Given the description of an element on the screen output the (x, y) to click on. 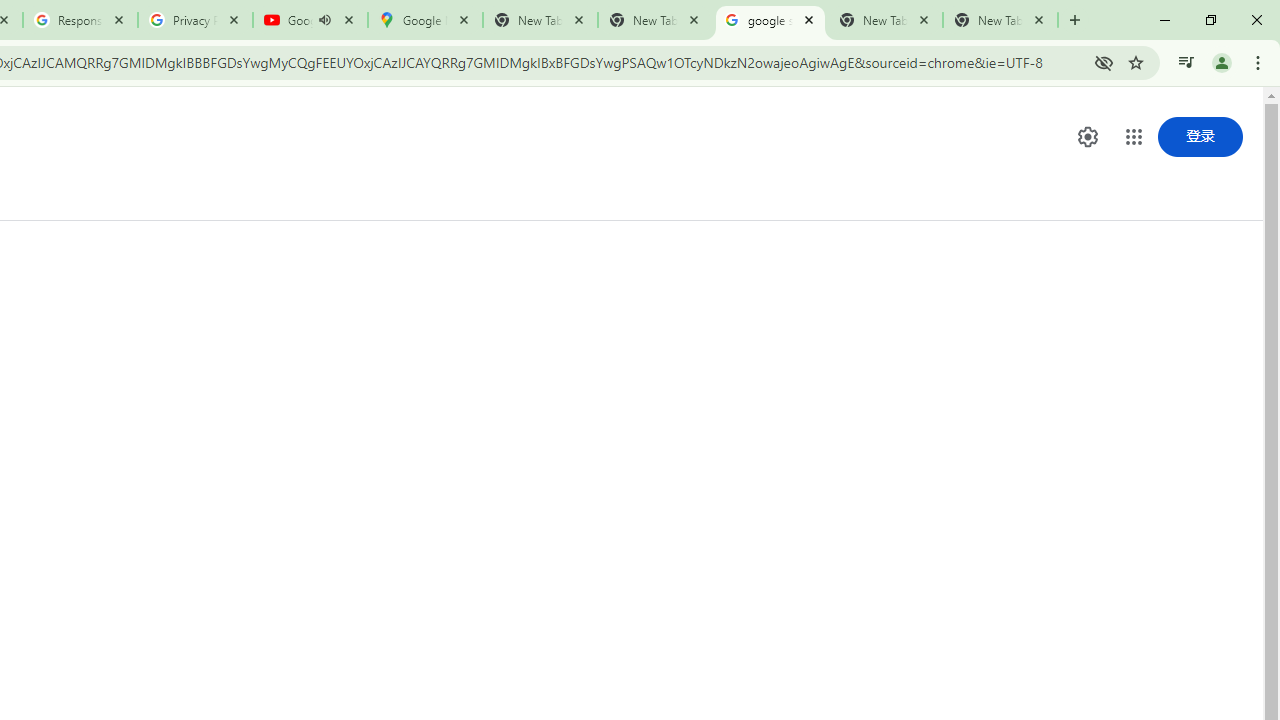
Google Maps (424, 20)
New Tab (1000, 20)
